Given the description of an element on the screen output the (x, y) to click on. 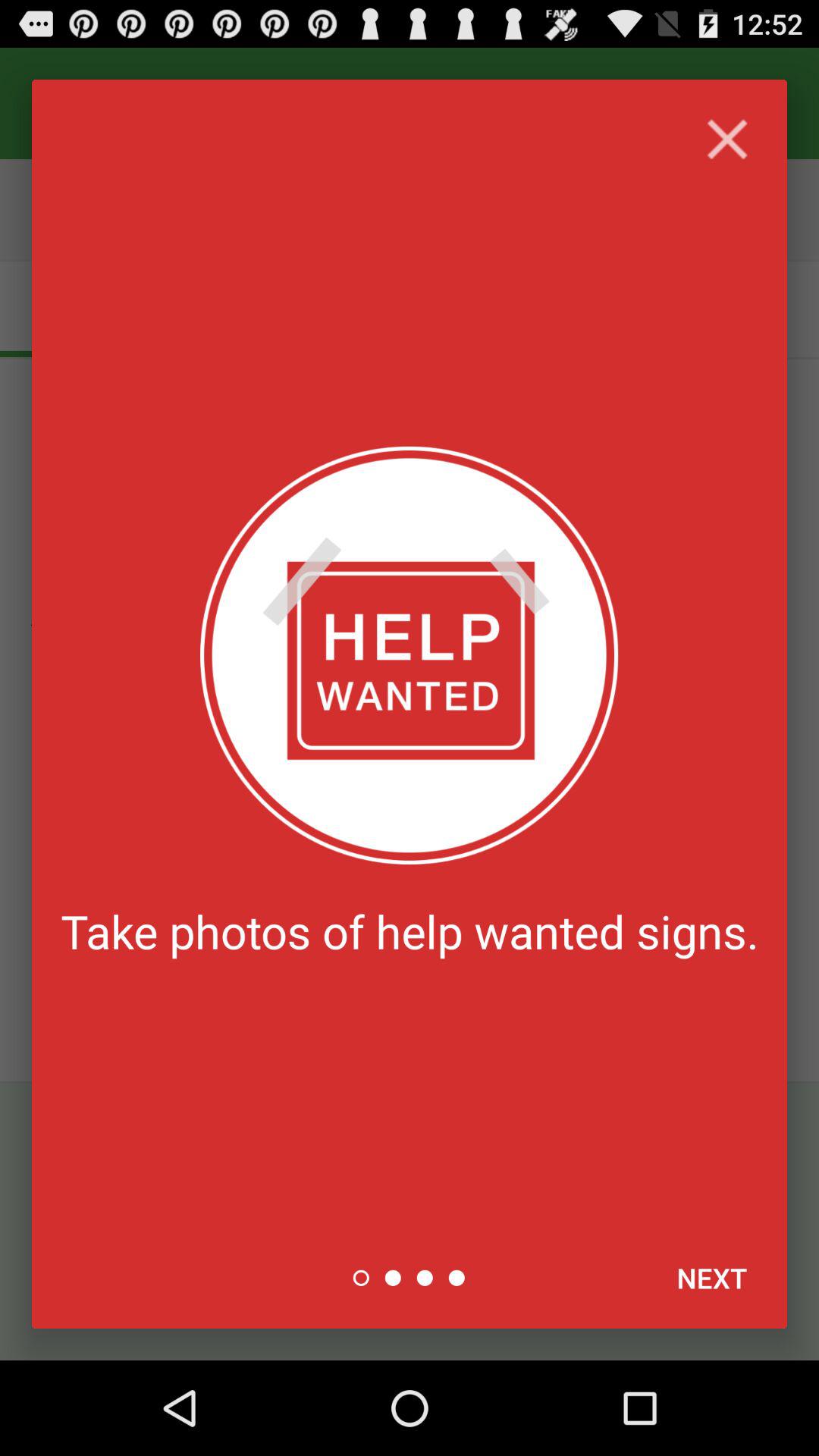
close page (727, 139)
